Given the description of an element on the screen output the (x, y) to click on. 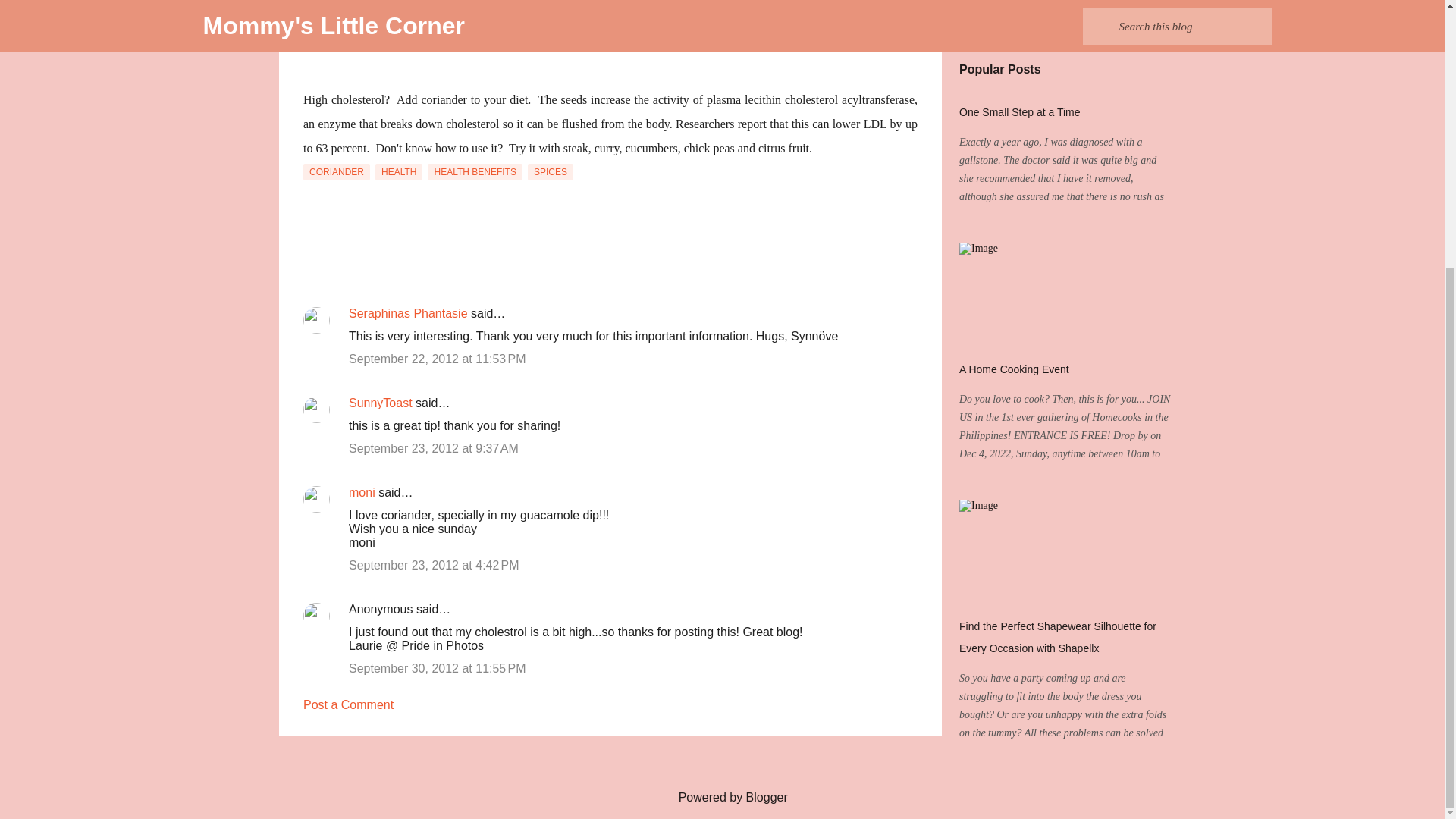
One Small Step at a Time (1019, 111)
CORIANDER (335, 171)
SPICES (550, 171)
HEALTH (398, 171)
Seraphinas Phantasie (408, 313)
comment permalink (437, 358)
moni (362, 492)
Powered by Blogger (721, 797)
SunnyToast (380, 402)
Post a Comment (347, 704)
